Given the description of an element on the screen output the (x, y) to click on. 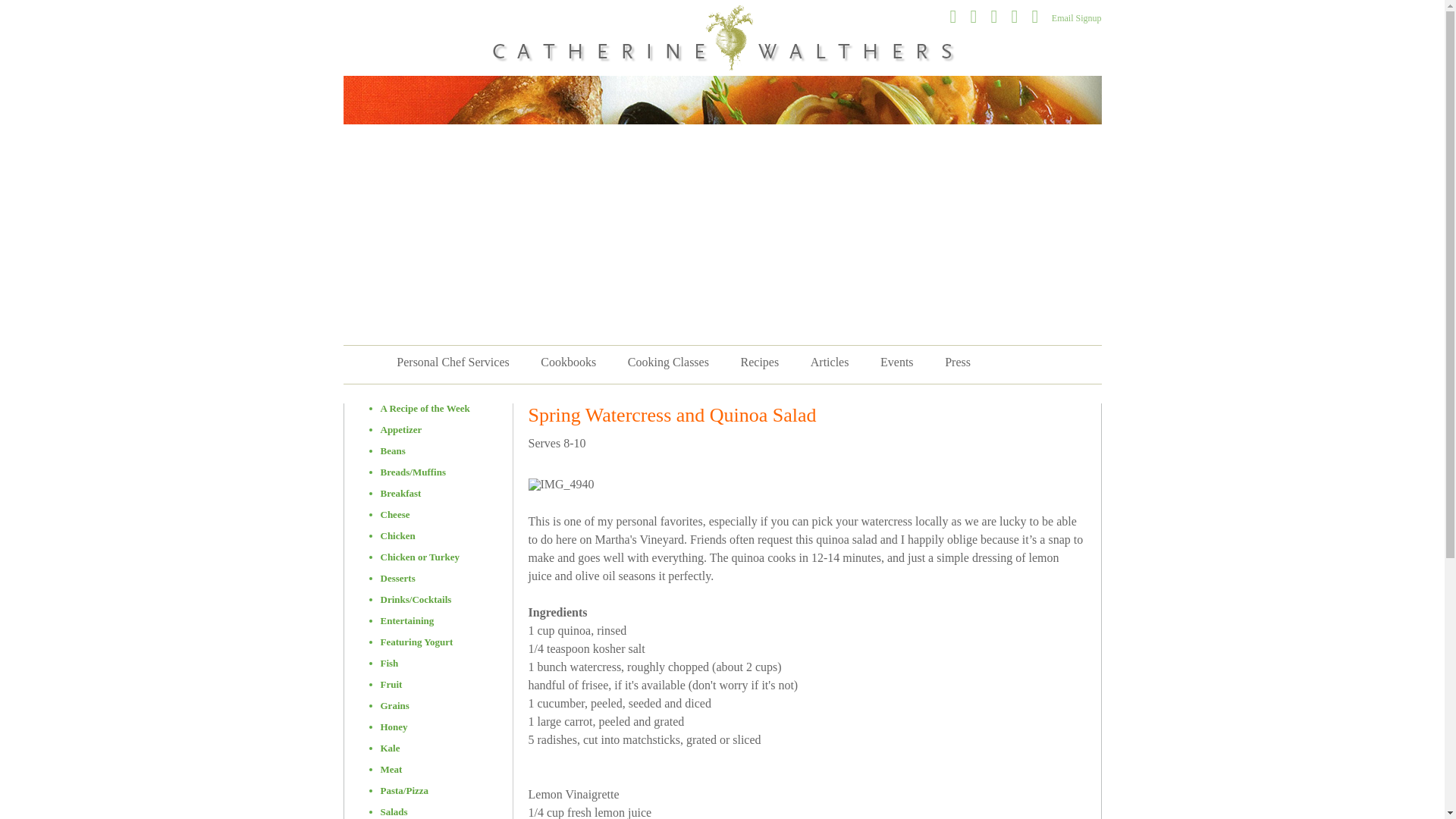
Breakfast (401, 492)
Events (896, 362)
Featuring Yogurt (416, 641)
A Recipe of the Week (425, 408)
Beans (393, 450)
Articles (829, 362)
Fish (389, 663)
Press (956, 362)
Grains (394, 705)
Cooking Classes (668, 362)
